Given the description of an element on the screen output the (x, y) to click on. 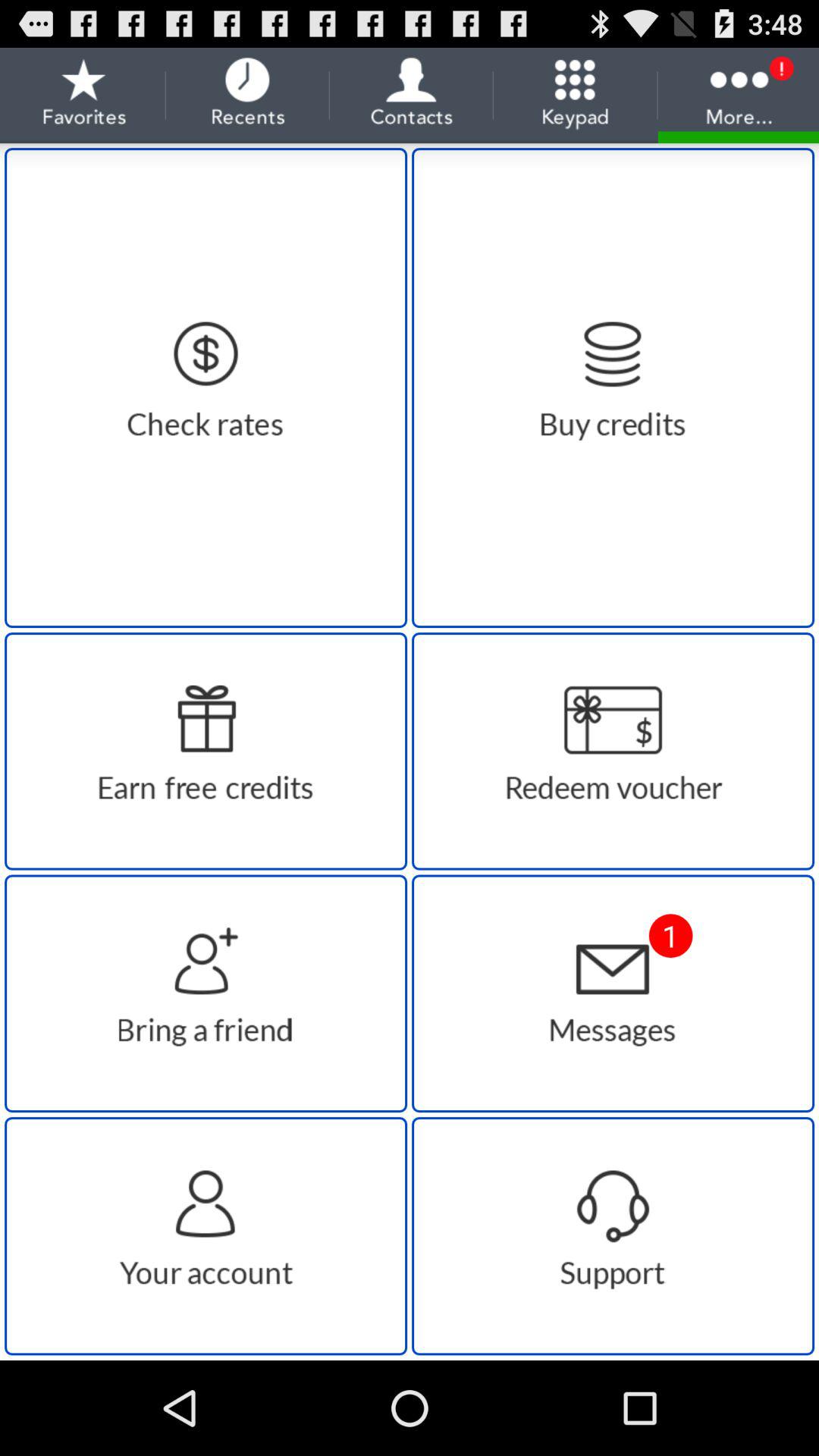
check rates (205, 387)
